Given the description of an element on the screen output the (x, y) to click on. 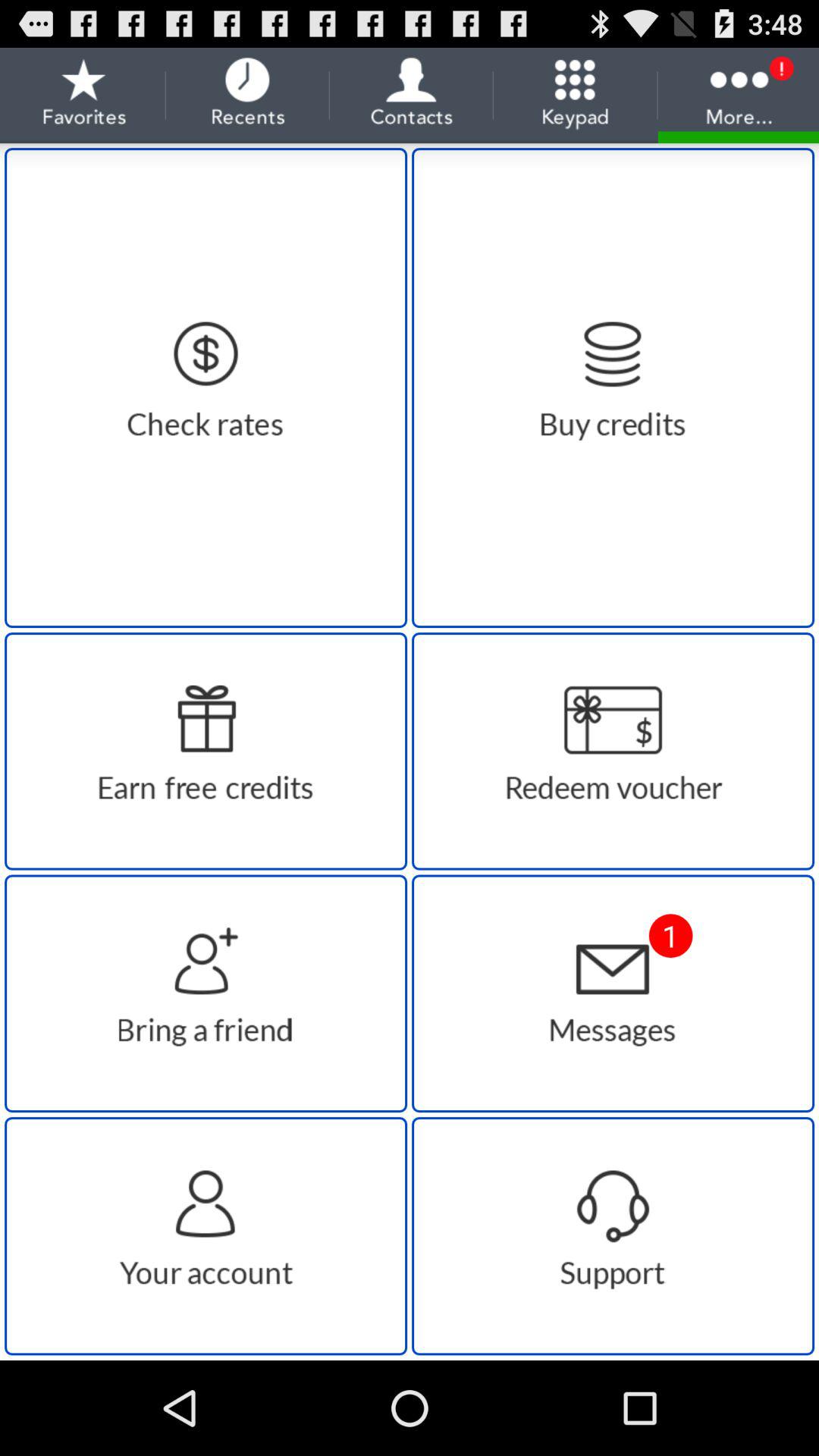
check rates (205, 387)
